Given the description of an element on the screen output the (x, y) to click on. 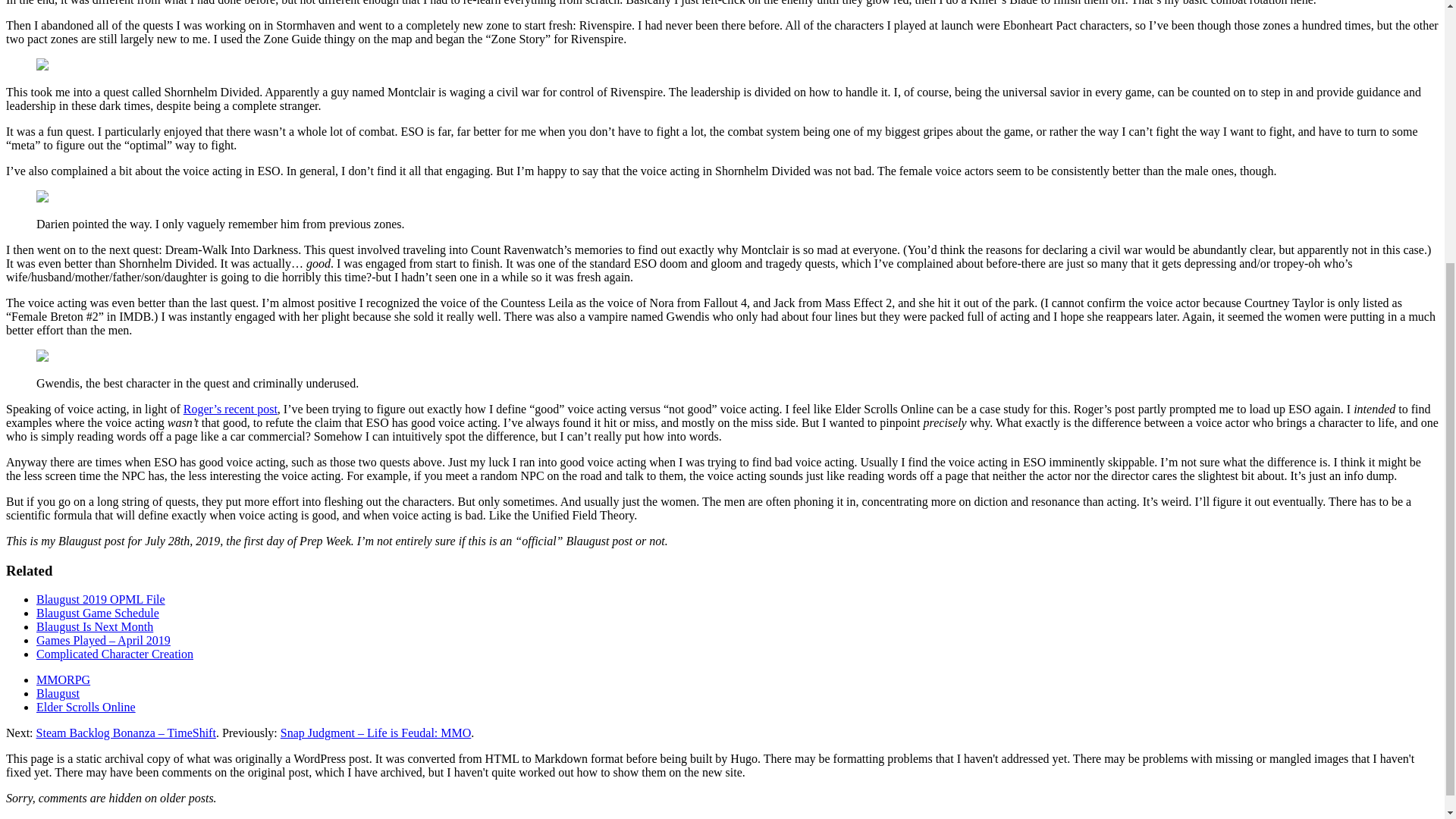
Blaugust 2019 OPML File (100, 599)
Blaugust Game Schedule (97, 612)
MMORPG (63, 679)
Blaugust (58, 693)
Elder Scrolls Online (85, 707)
Complicated Character Creation (114, 653)
Blaugust Is Next Month (94, 626)
